Given the description of an element on the screen output the (x, y) to click on. 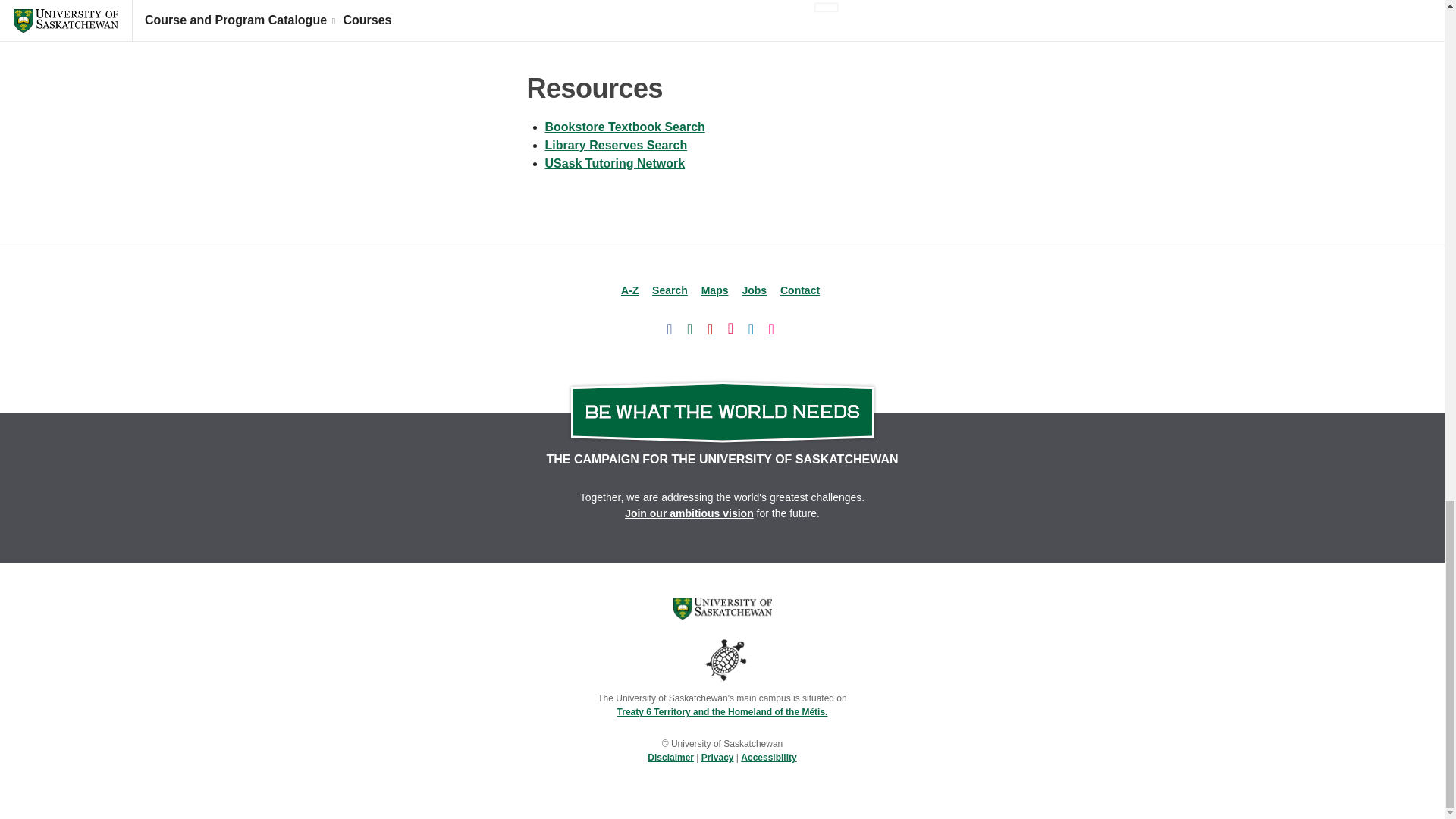
Accessibility (768, 757)
Contact (799, 290)
Search (669, 290)
A-Z (630, 290)
Privacy (717, 757)
Bookstore Textbook Search (624, 126)
Maps (715, 290)
Jobs (754, 290)
Disclaimer (670, 757)
Library Reserves Search (615, 144)
